Given the description of an element on the screen output the (x, y) to click on. 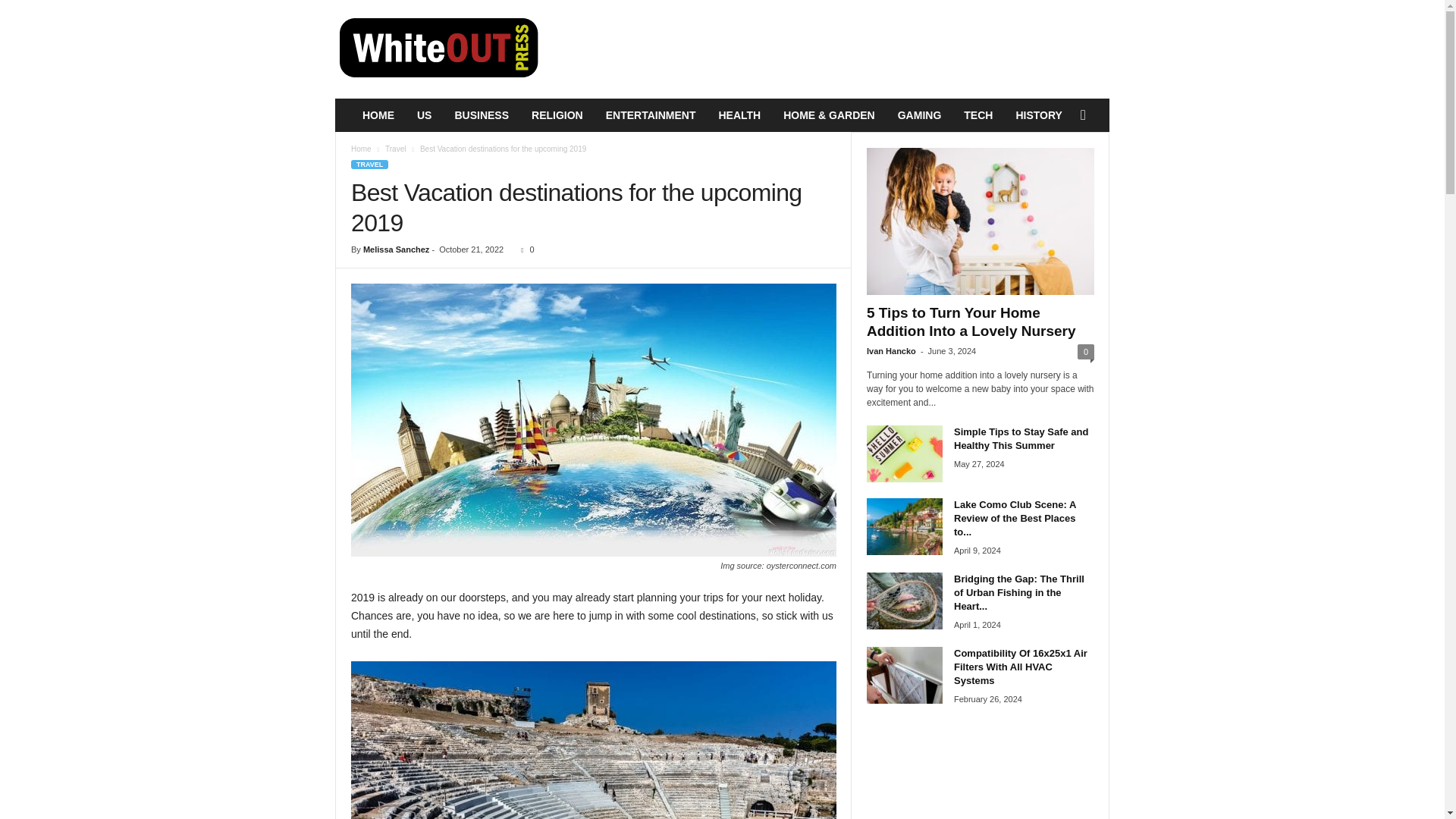
HEALTH (738, 114)
RELIGION (556, 114)
GAMING (919, 114)
Travel (395, 148)
5 Tips to Turn Your Home Addition Into a Lovely Nursery (980, 221)
Home (360, 148)
WhiteOut Press (437, 48)
0 (524, 248)
View all posts in Travel (395, 148)
TECH (978, 114)
